Given the description of an element on the screen output the (x, y) to click on. 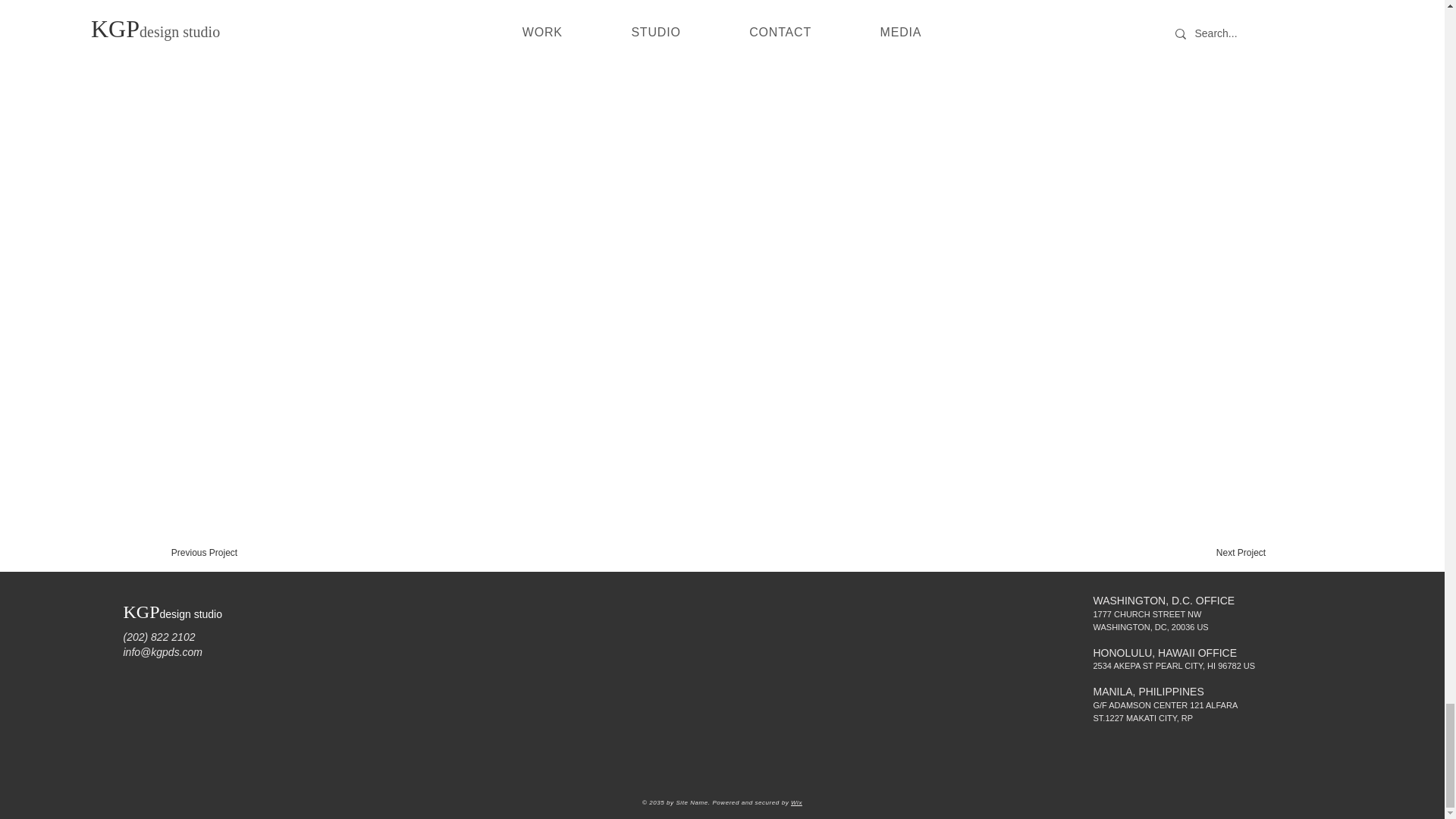
Wix (796, 802)
Next Project (1240, 552)
Previous Project (204, 552)
